Given the description of an element on the screen output the (x, y) to click on. 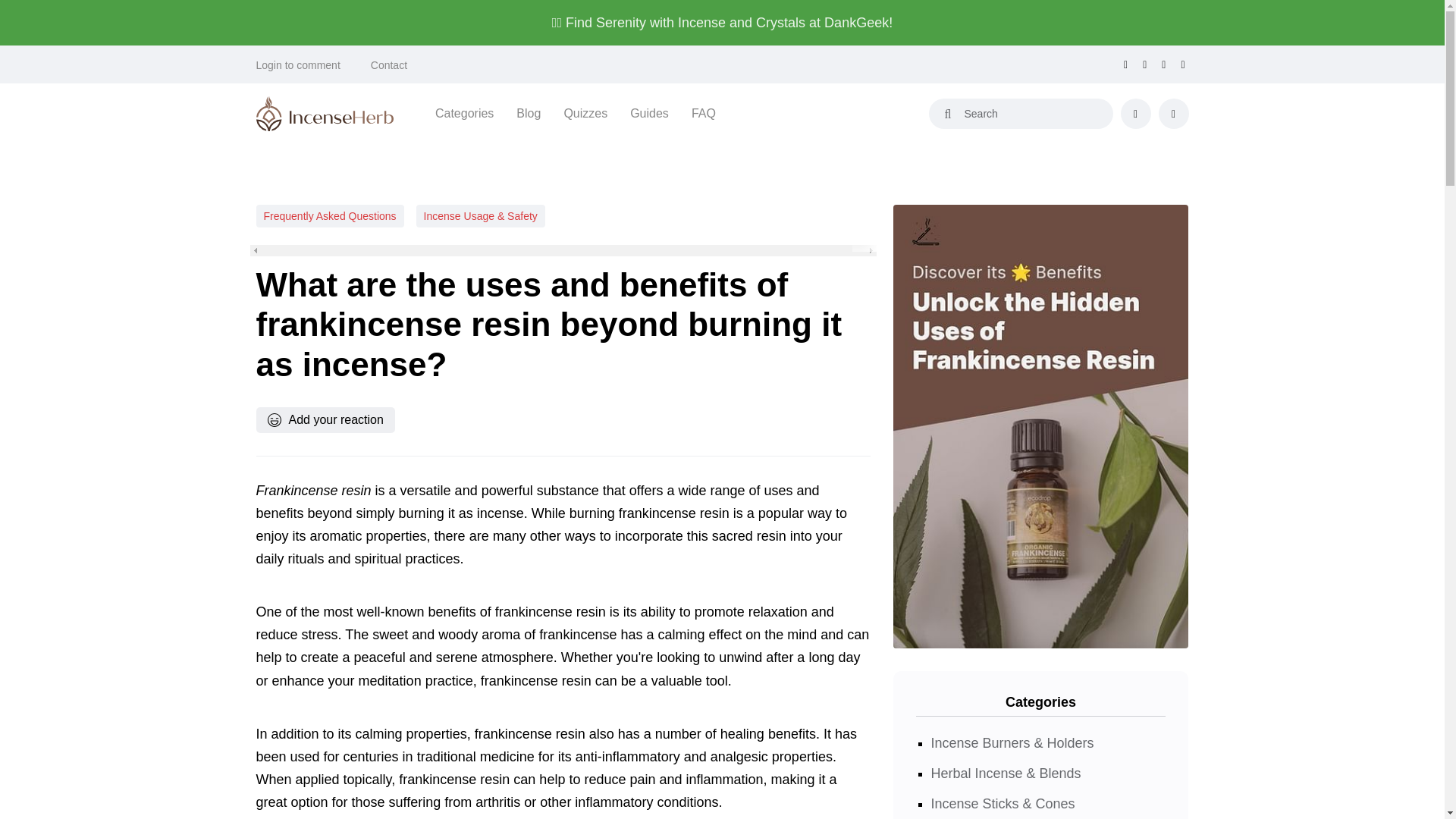
Contact (389, 64)
Categories (464, 113)
Login to comment (298, 64)
